Given the description of an element on the screen output the (x, y) to click on. 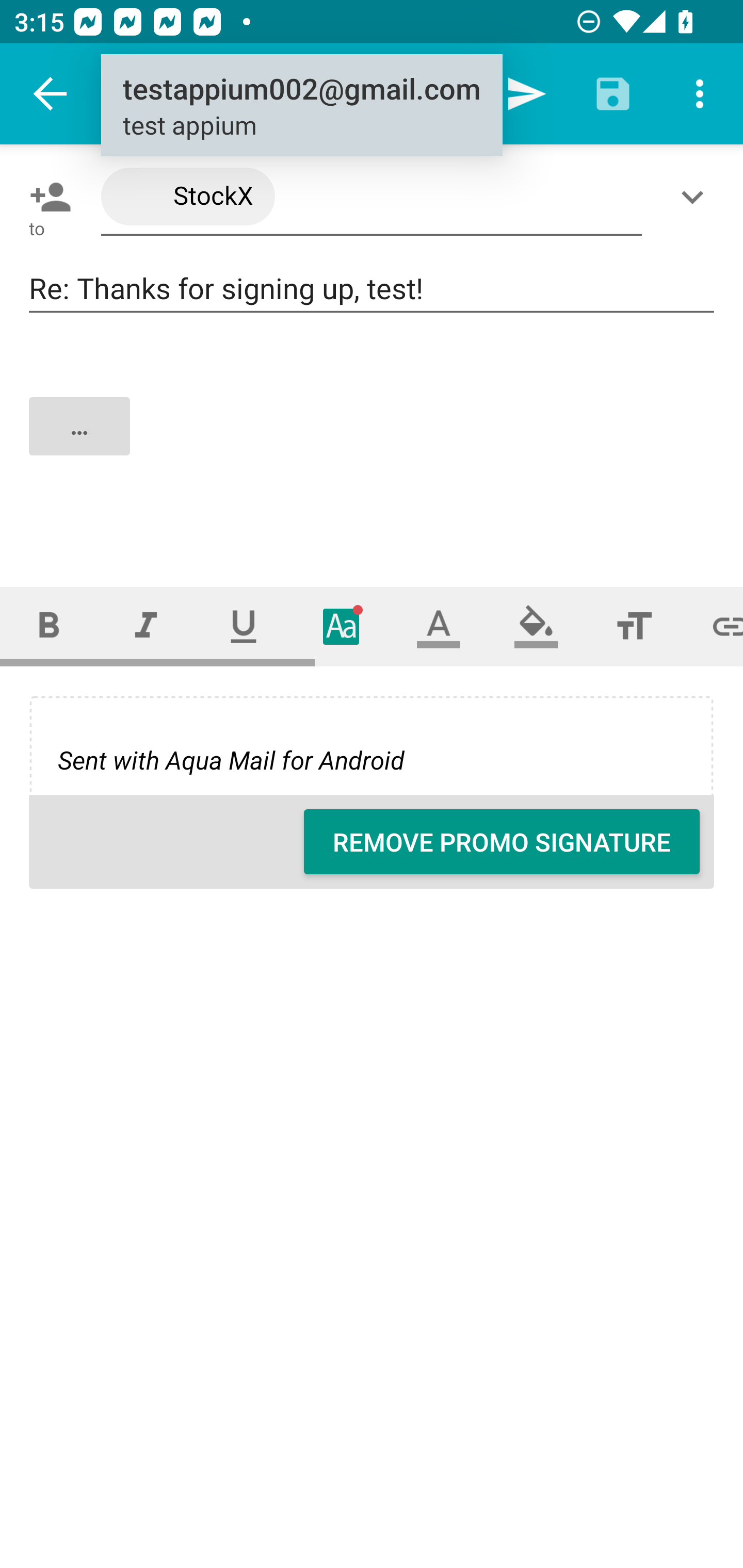
testappium002@gmail.com test appium (301, 105)
